Given the description of an element on the screen output the (x, y) to click on. 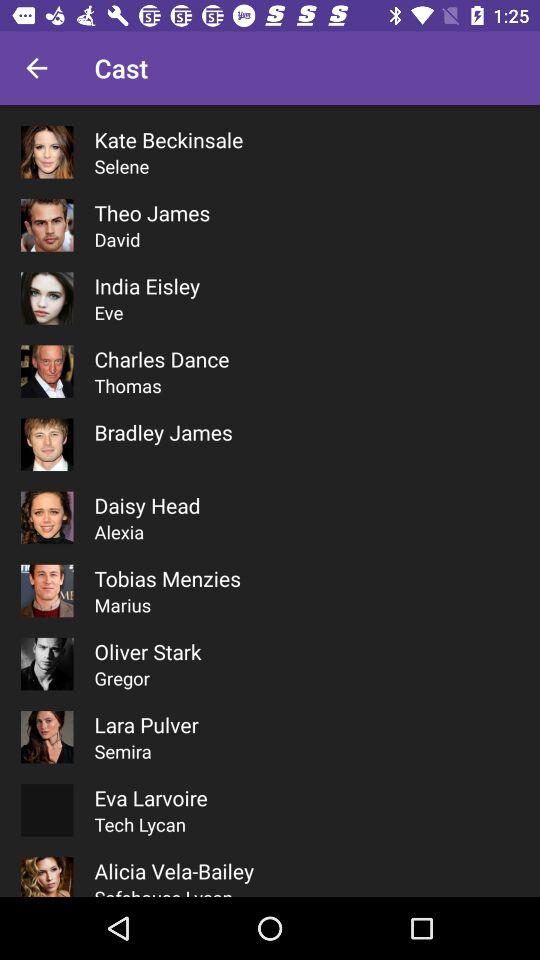
open the item below marius icon (147, 651)
